Given the description of an element on the screen output the (x, y) to click on. 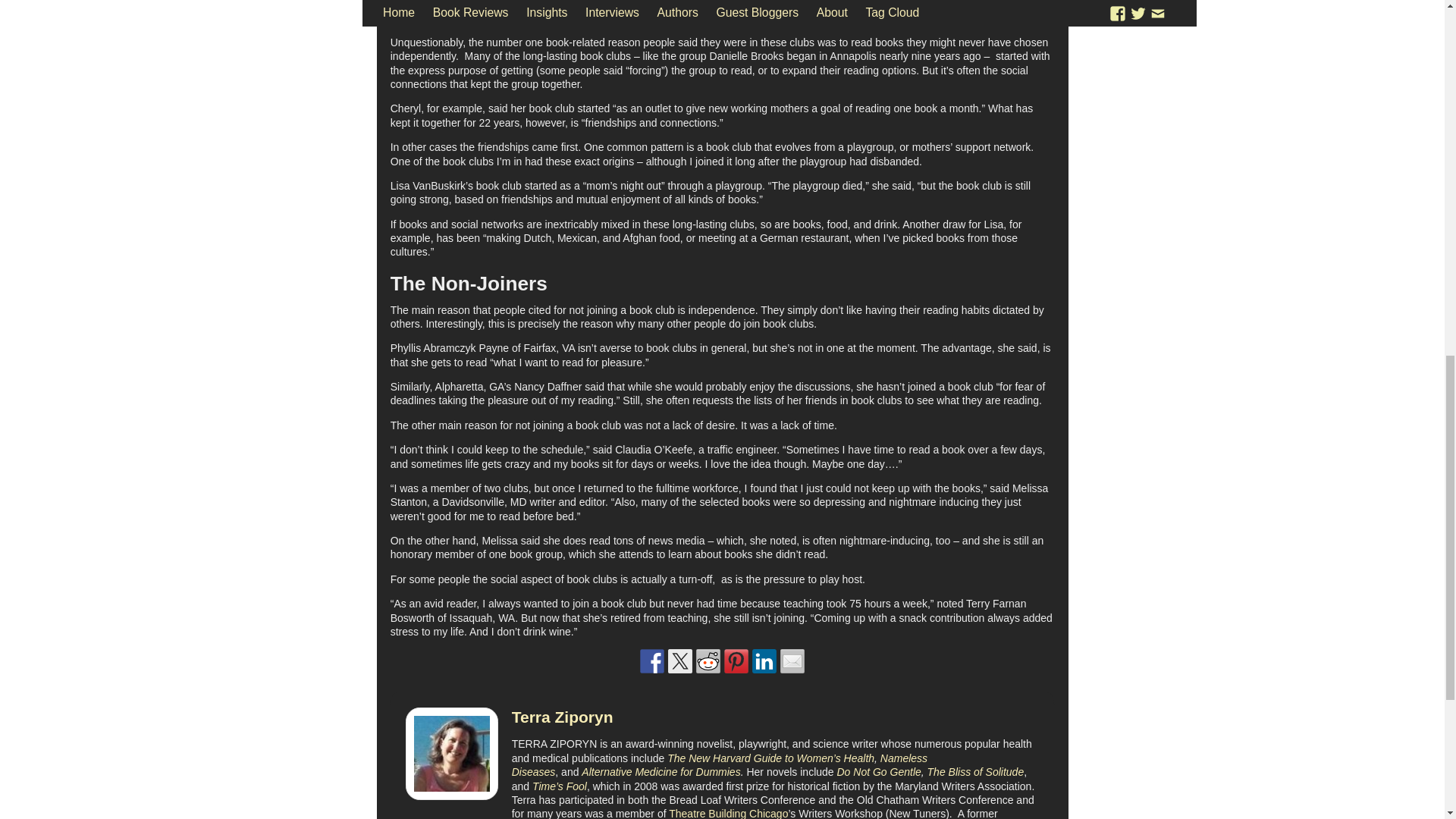
Share by email (792, 661)
Share on Linkedin (764, 661)
Share on Twitter (680, 661)
Share on Reddit (707, 661)
Pin it with Pinterest (735, 661)
Share on Facebook (651, 661)
Terra Ziporyn (562, 716)
